Given the description of an element on the screen output the (x, y) to click on. 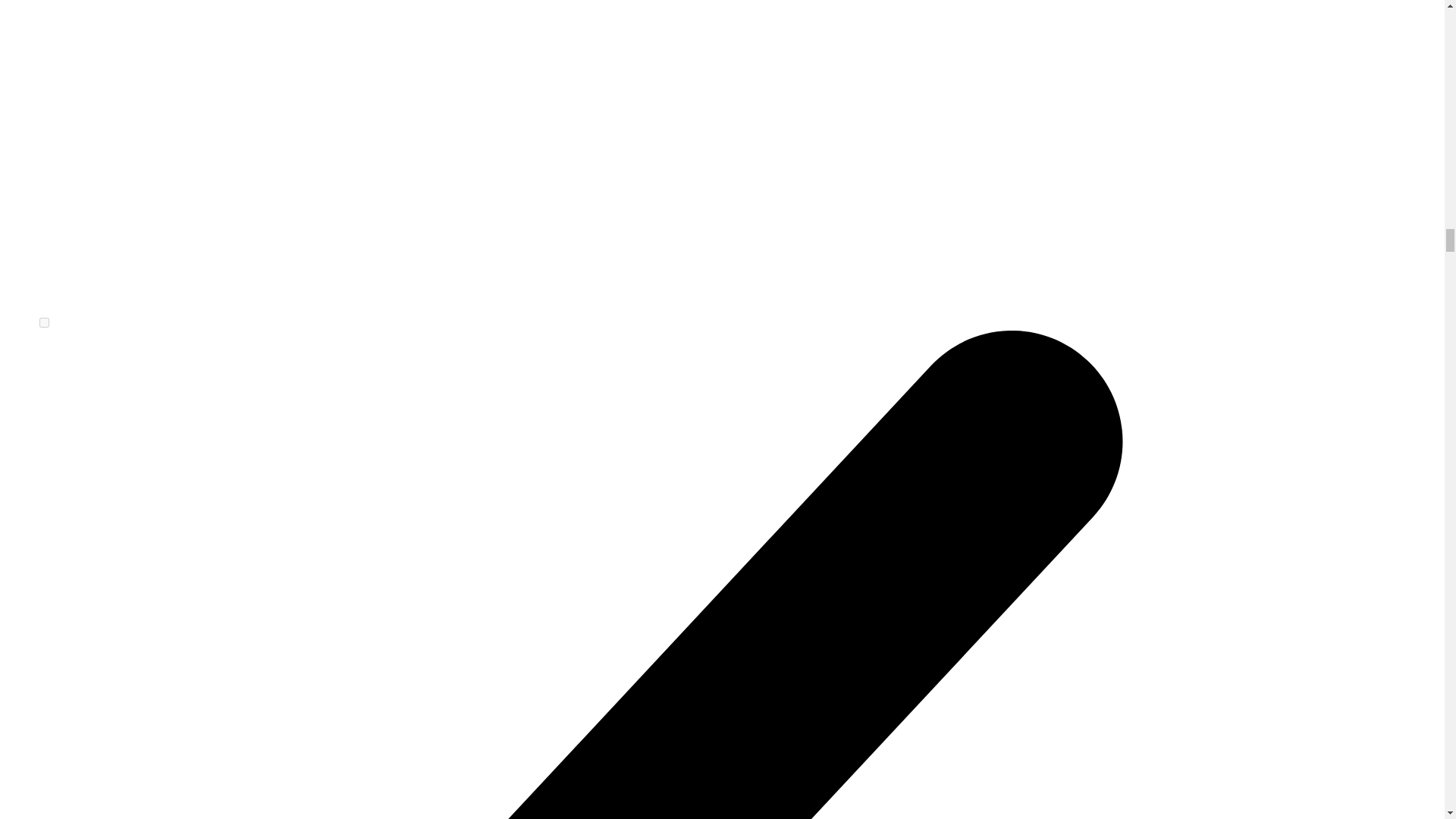
on (44, 322)
